Given the description of an element on the screen output the (x, y) to click on. 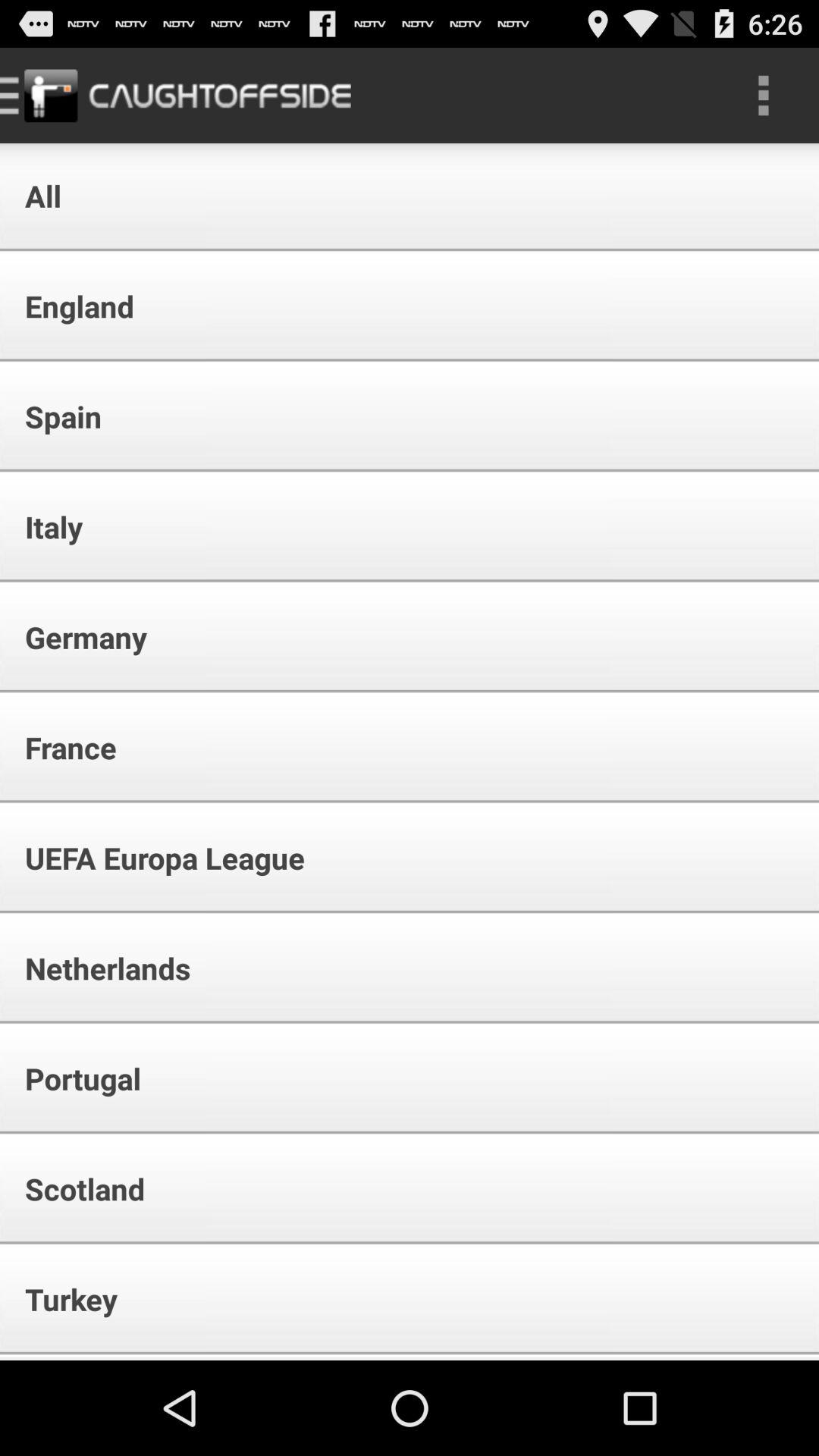
click the icon above the portugal item (97, 968)
